Given the description of an element on the screen output the (x, y) to click on. 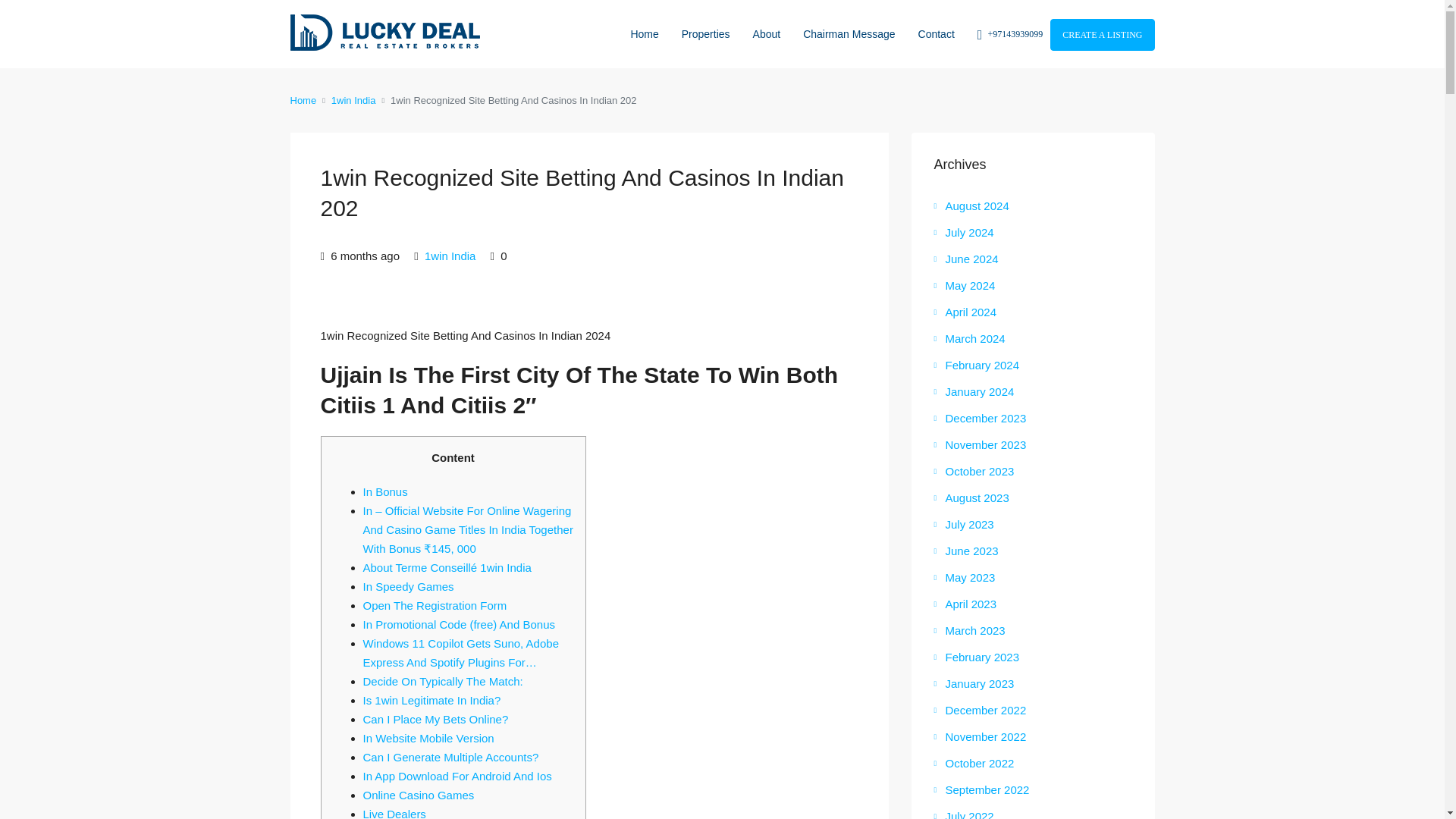
Open The Registration Form (434, 604)
In Speedy Games (407, 585)
Properties (705, 33)
1win India (450, 255)
1win India (353, 99)
Chairman Message (848, 33)
In Website Mobile Version (427, 738)
In App Download For Android And Ios (456, 775)
In Bonus (384, 491)
Is 1win Legitimate In India? (431, 699)
